Given the description of an element on the screen output the (x, y) to click on. 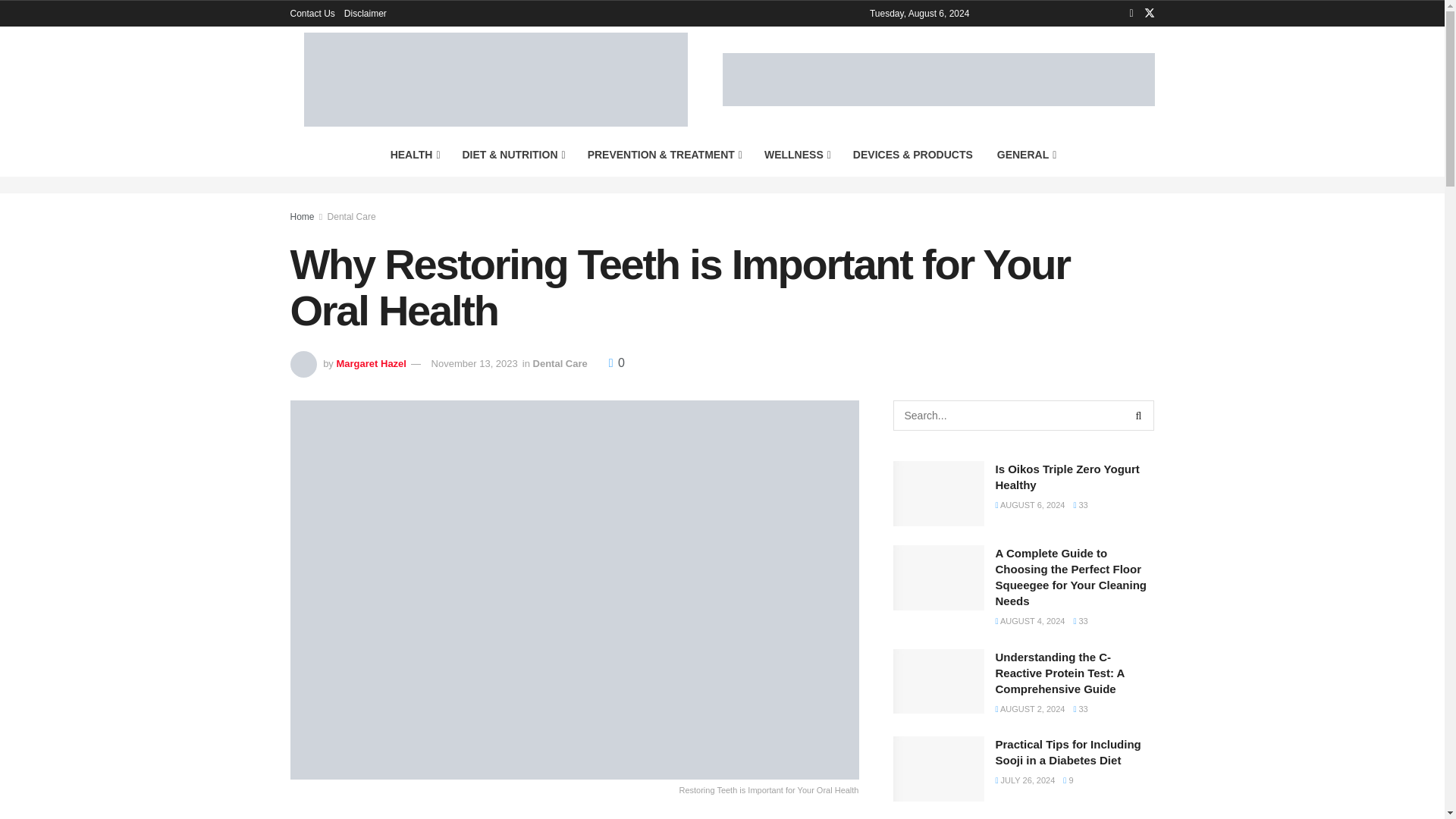
Disclaimer (365, 13)
GENERAL (1026, 154)
Contact Us (311, 13)
HEALTH (413, 154)
WELLNESS (796, 154)
